Given the description of an element on the screen output the (x, y) to click on. 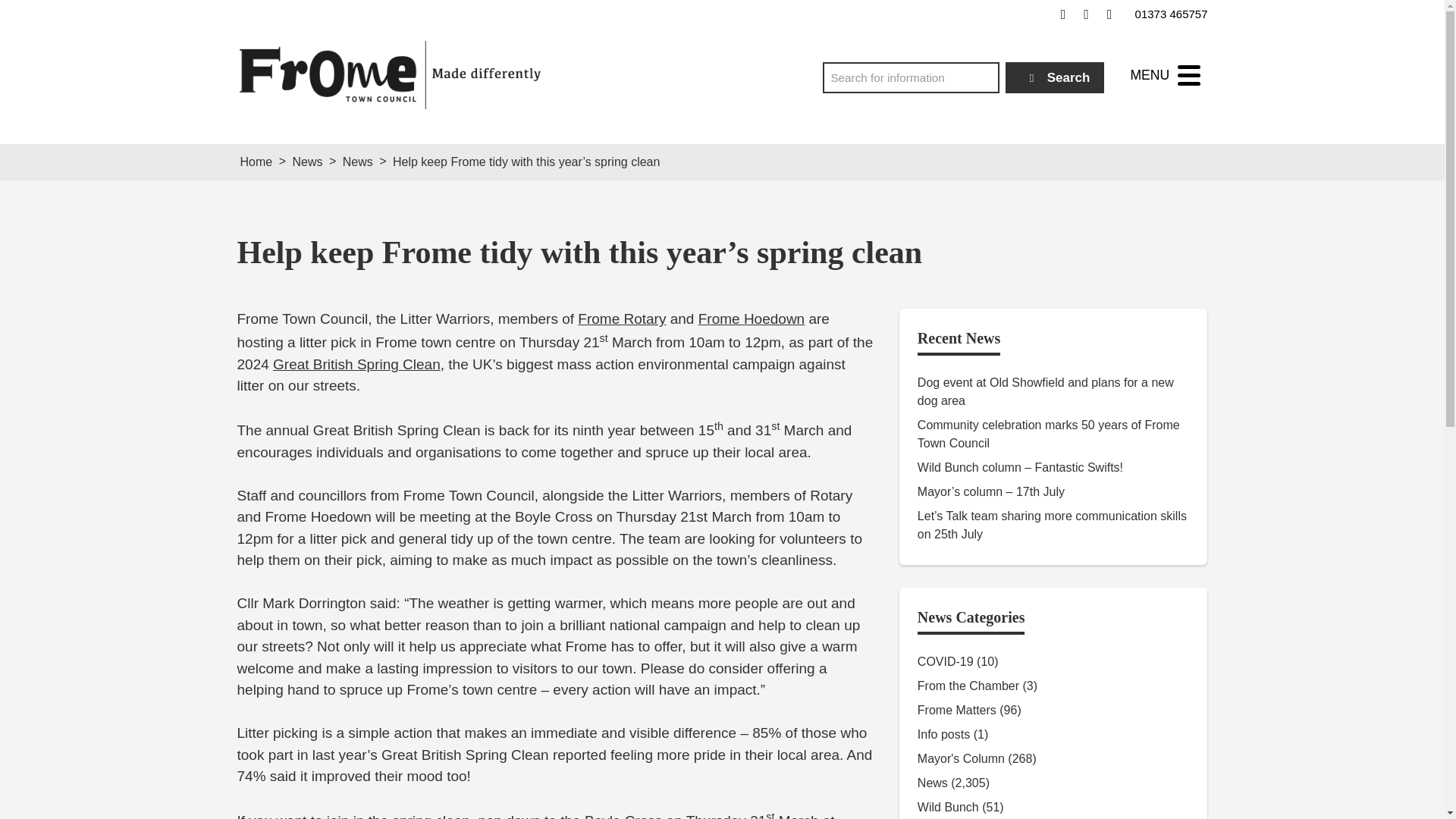
Search (1055, 77)
Go to News. (306, 161)
MENU (1164, 75)
Frome Town Council's Twitter (1085, 13)
Frome Town Council's Instagram (1109, 13)
Go to the News Category archives. (357, 161)
Go to Home. (256, 161)
Frome Town Council's Facebook (1063, 13)
